Given the description of an element on the screen output the (x, y) to click on. 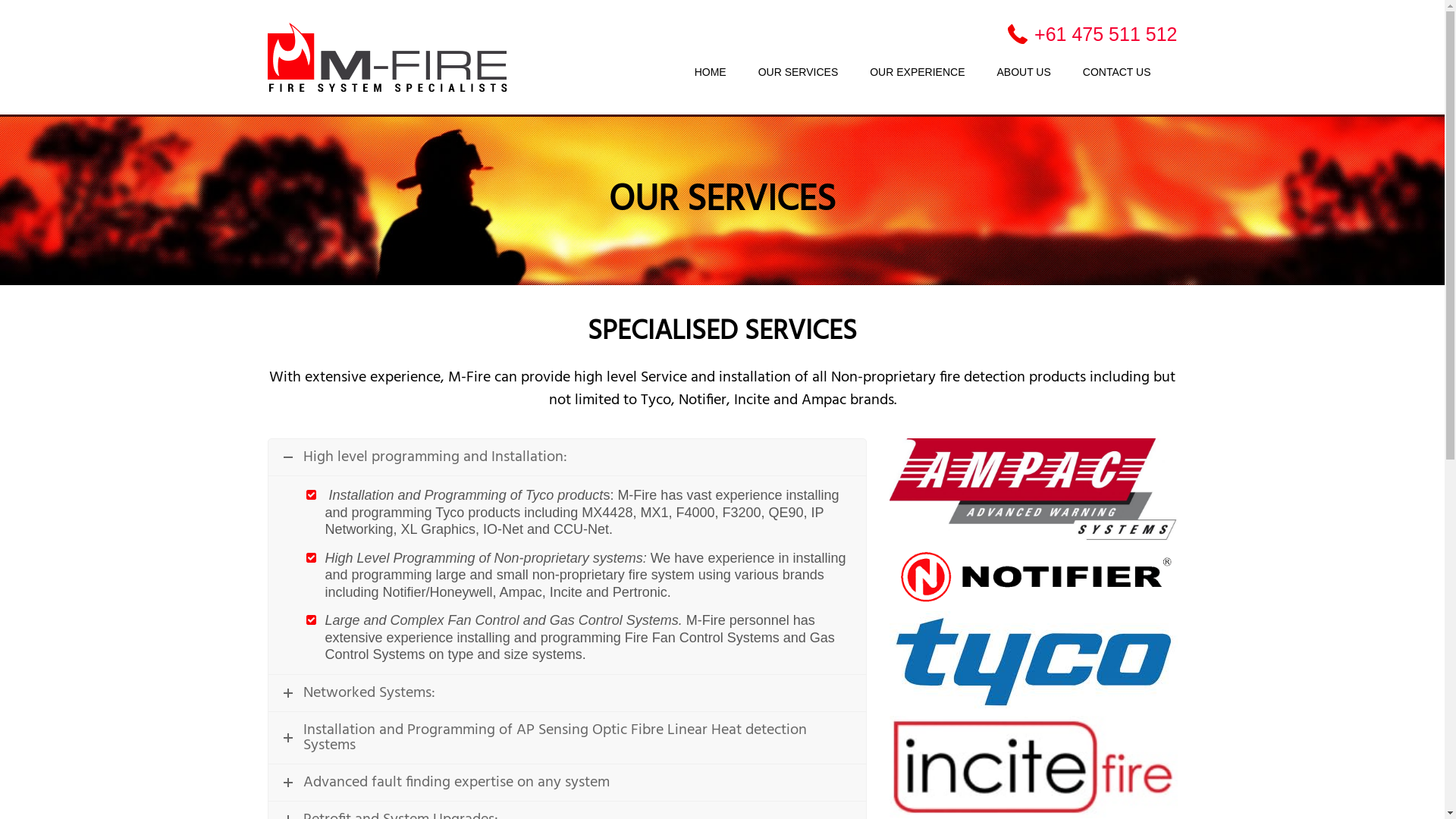
+61 475 511 512 Element type: text (1091, 33)
ampac Element type: hover (1032, 489)
CONTACT US Element type: text (1116, 72)
download Element type: hover (1032, 575)
Advanced fault finding expertise on any system Element type: text (567, 782)
incite-fire Element type: hover (1032, 766)
High level programming and Installation: Element type: text (567, 457)
OUR SERVICES Element type: text (798, 72)
ABOUT US Element type: text (1023, 72)
tyco-international-logo Element type: hover (1032, 661)
Networked Systems: Element type: text (567, 692)
HOME Element type: text (710, 72)
OUR EXPERIENCE Element type: text (916, 72)
